Given the description of an element on the screen output the (x, y) to click on. 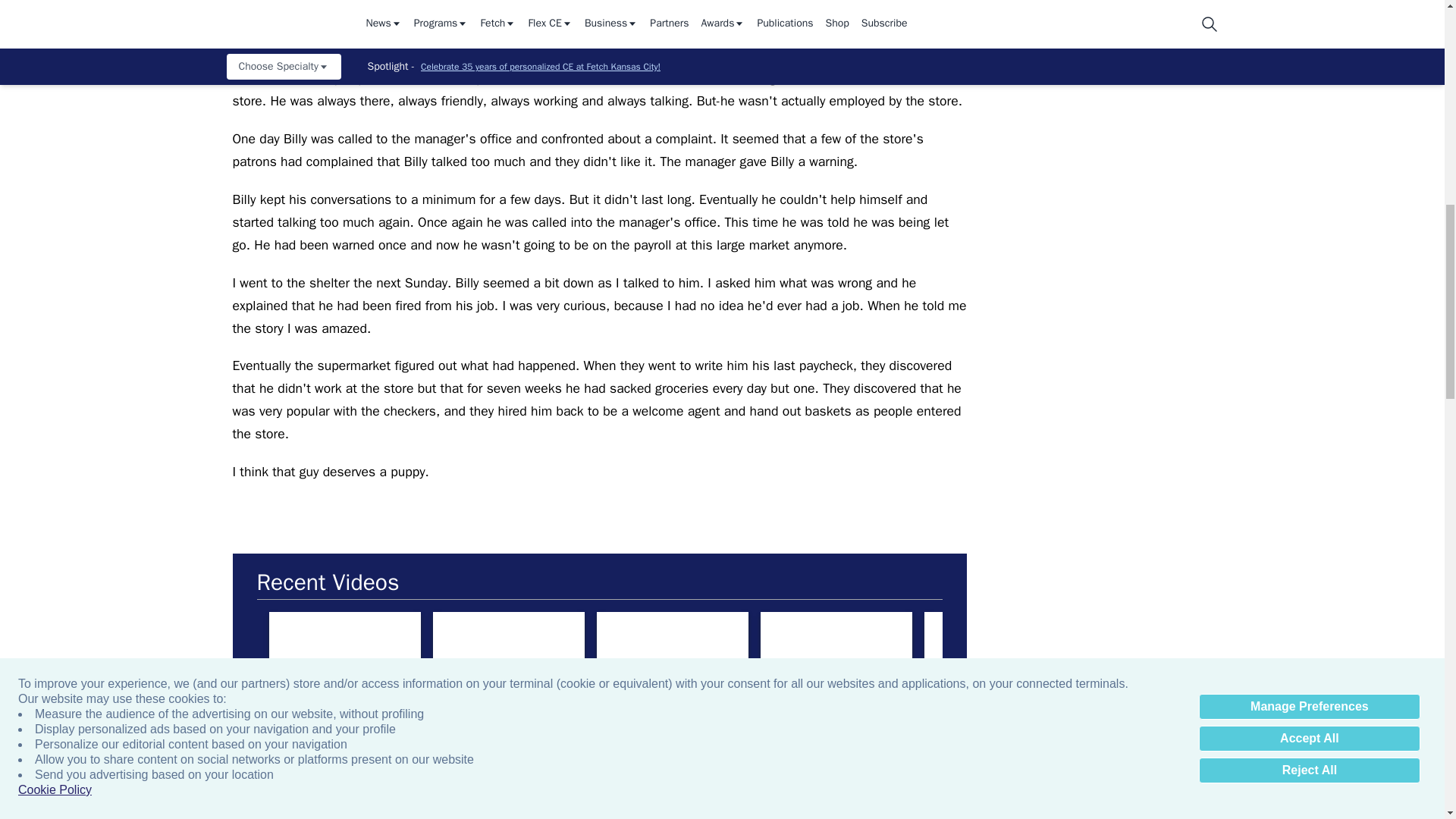
Honey bee (999, 654)
Nontraditional jobs for veterinary technicians (671, 654)
Managing practice caseloads (507, 654)
Behavioral clues to metabolic diseases in dogs and cats (317, 816)
